Given the description of an element on the screen output the (x, y) to click on. 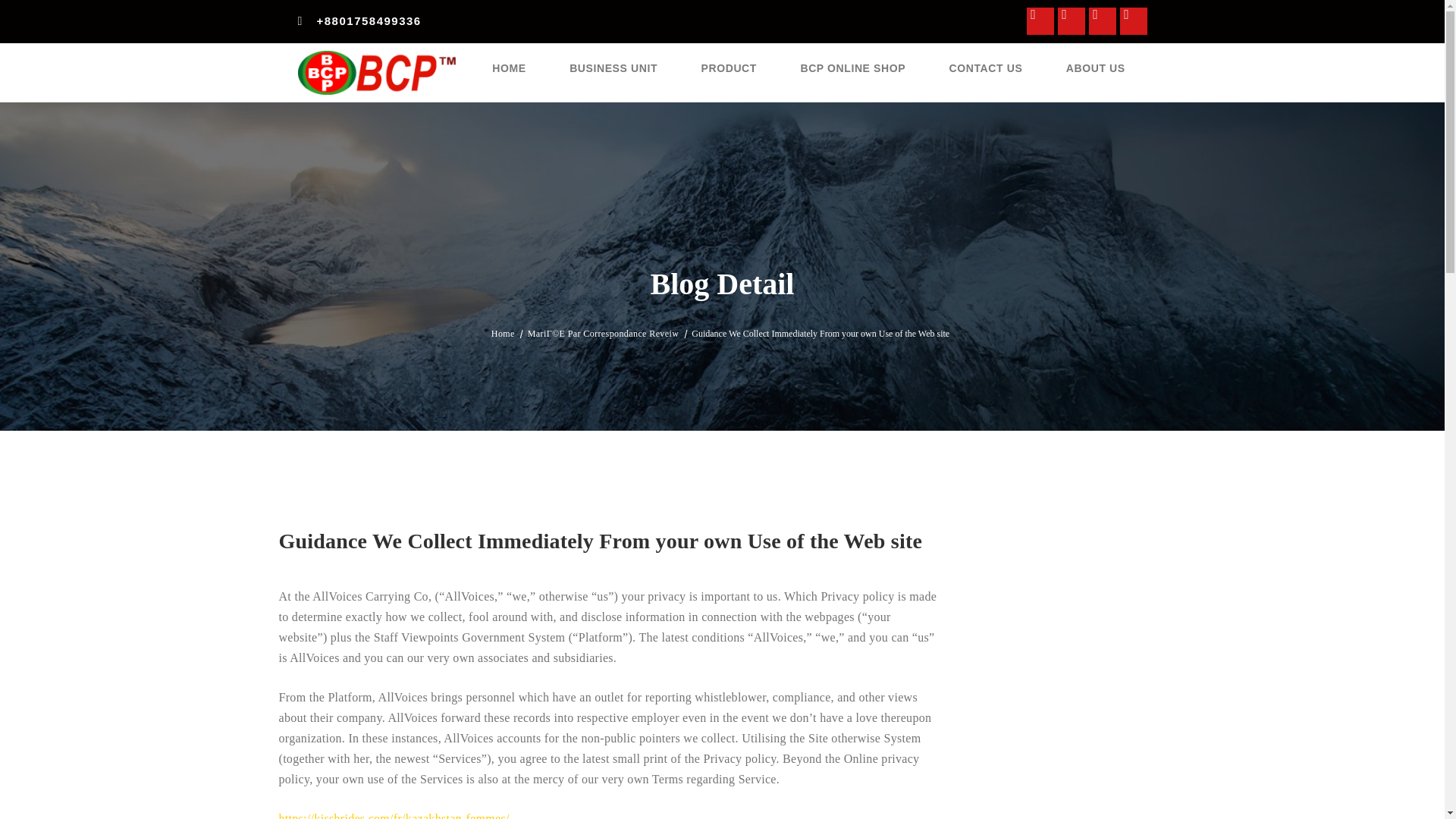
CONTACT US (985, 67)
HOME (508, 67)
ABOUT US (1095, 67)
BUSINESS UNIT (612, 67)
BCP ONLINE SHOP (852, 67)
PRODUCT (728, 67)
